Given the description of an element on the screen output the (x, y) to click on. 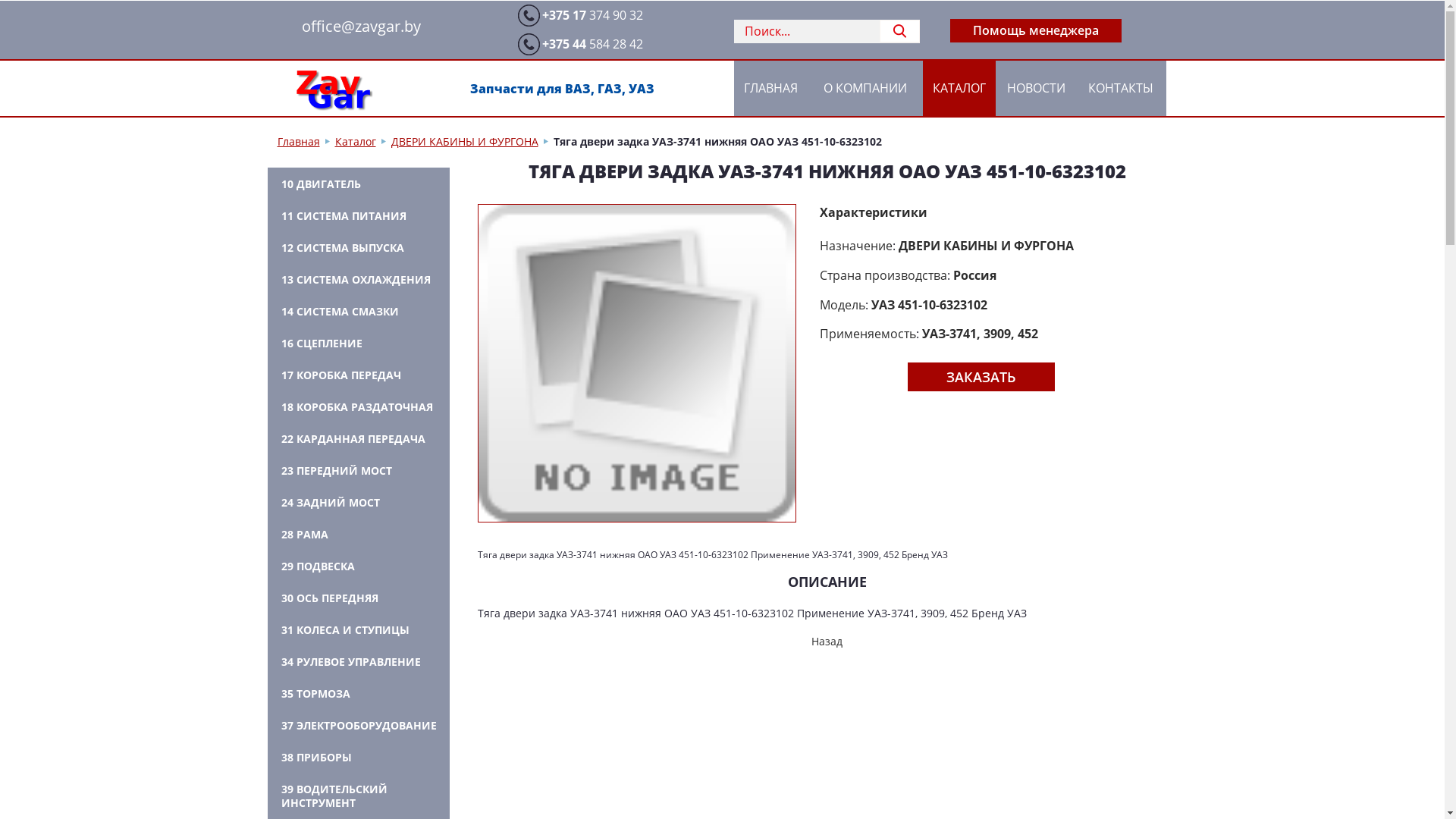
office@zavgar.by Element type: text (360, 25)
